Given the description of an element on the screen output the (x, y) to click on. 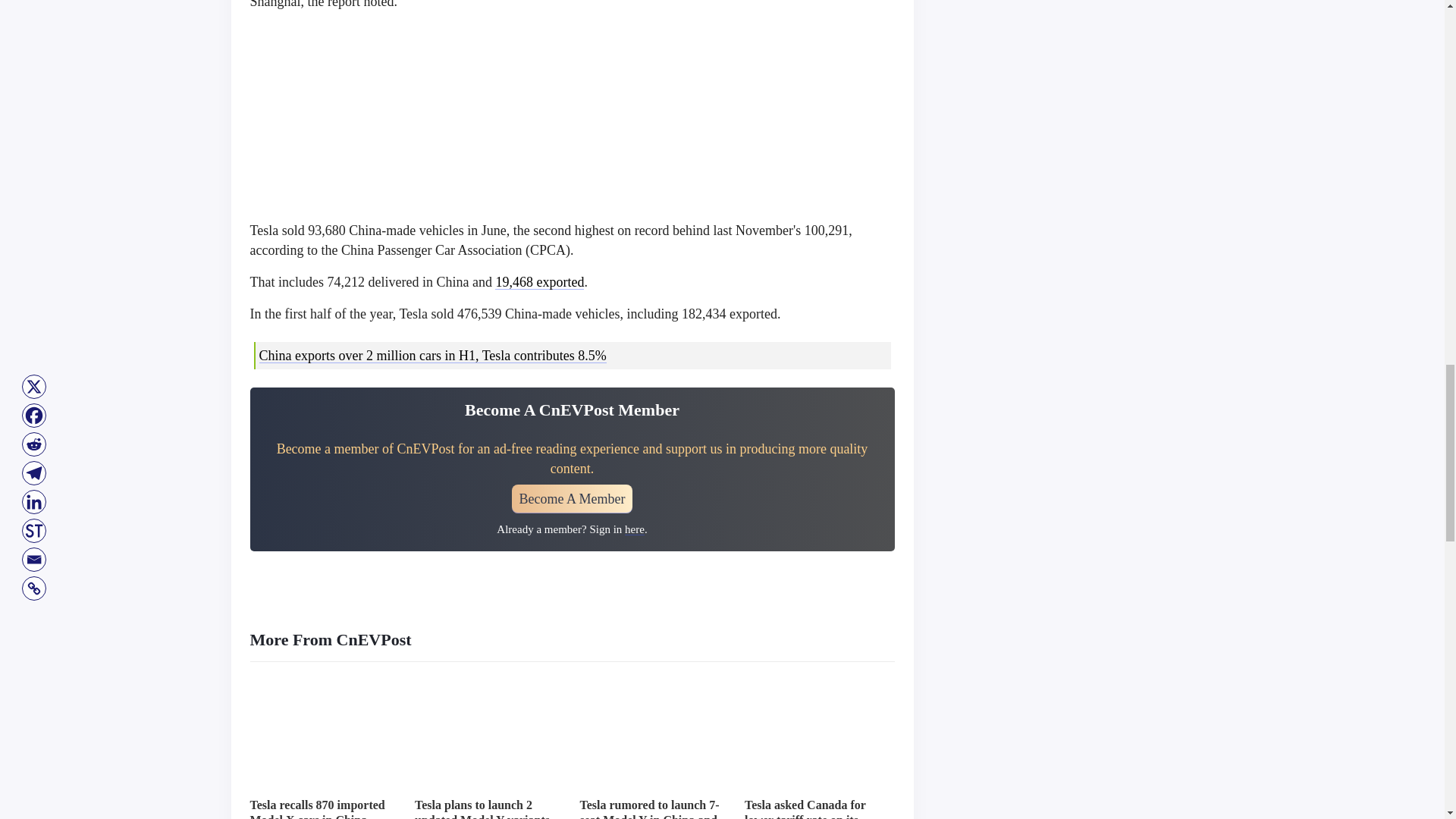
Become A Member (572, 498)
Tesla recalls 870 imported Model X cars in China (317, 808)
19,468 exported (539, 281)
here (634, 529)
